Given the description of an element on the screen output the (x, y) to click on. 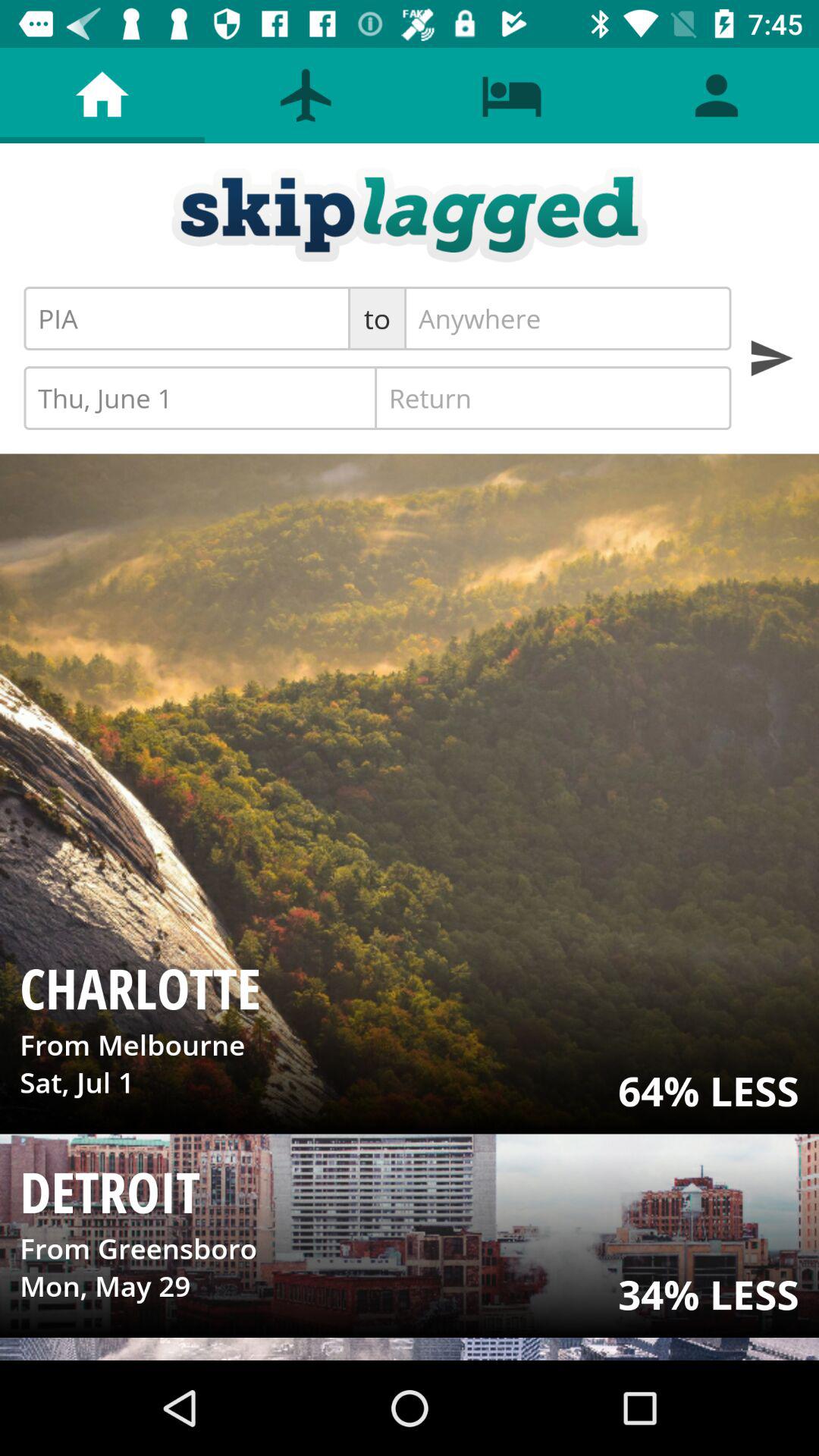
perform a search (771, 358)
